Given the description of an element on the screen output the (x, y) to click on. 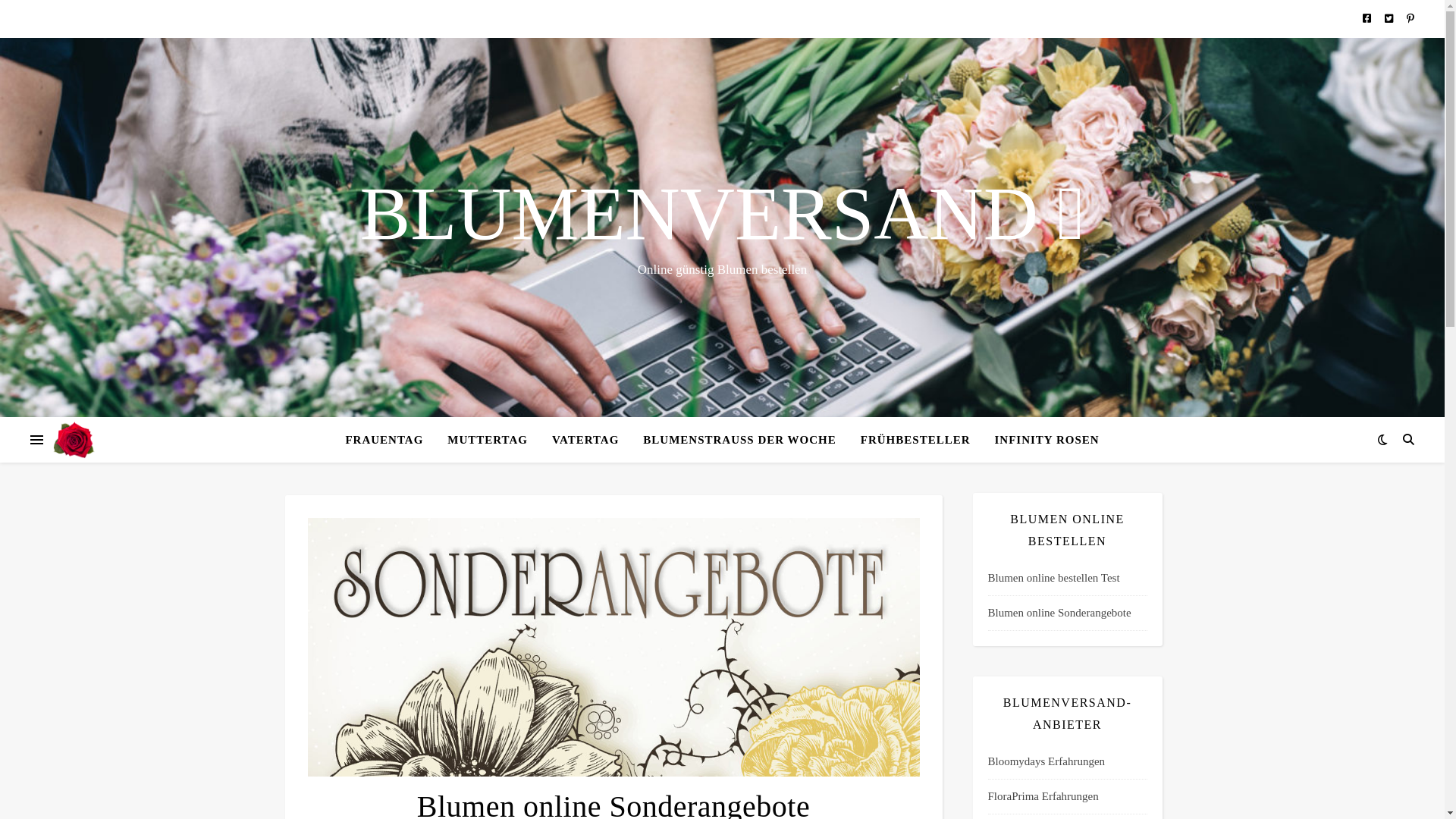
MUTTERTAG Element type: text (487, 439)
FRAUENTAG Element type: text (390, 439)
Bloomydays Erfahrungen Element type: text (1066, 761)
FloraPrima Erfahrungen Element type: text (1066, 796)
Blumen Online Sonderangebote 1 Element type: hover (613, 646)
BLUMENSTRAUSS DER WOCHE Element type: text (738, 439)
INFINITY ROSEN Element type: text (1040, 439)
VATERTAG Element type: text (584, 439)
Blumen online Sonderangebote Element type: text (1066, 613)
Blumen online bestellen Test Element type: text (1066, 578)
